Given the description of an element on the screen output the (x, y) to click on. 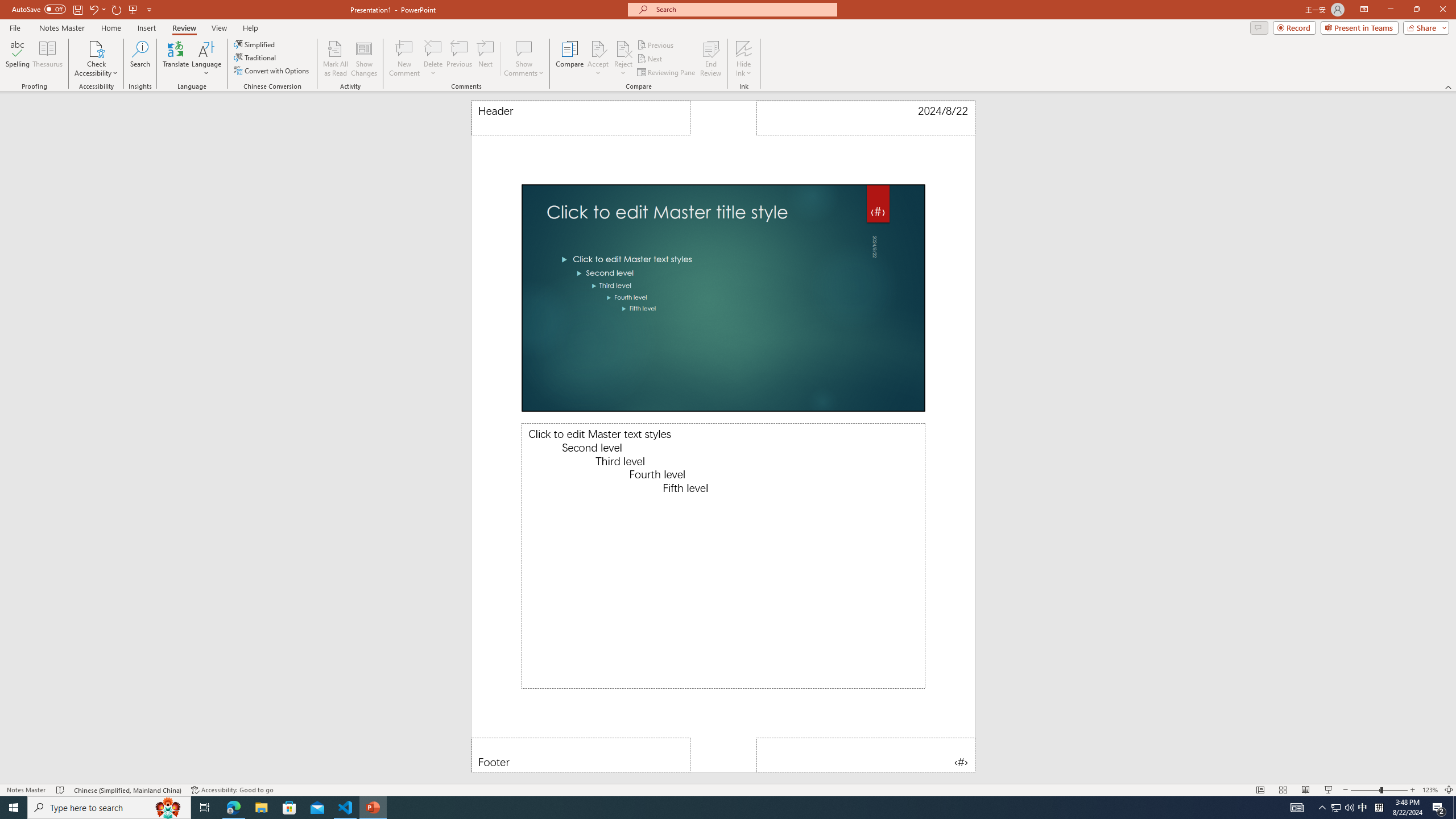
Footer (580, 754)
End Review (710, 58)
Notes Master (61, 28)
